Given the description of an element on the screen output the (x, y) to click on. 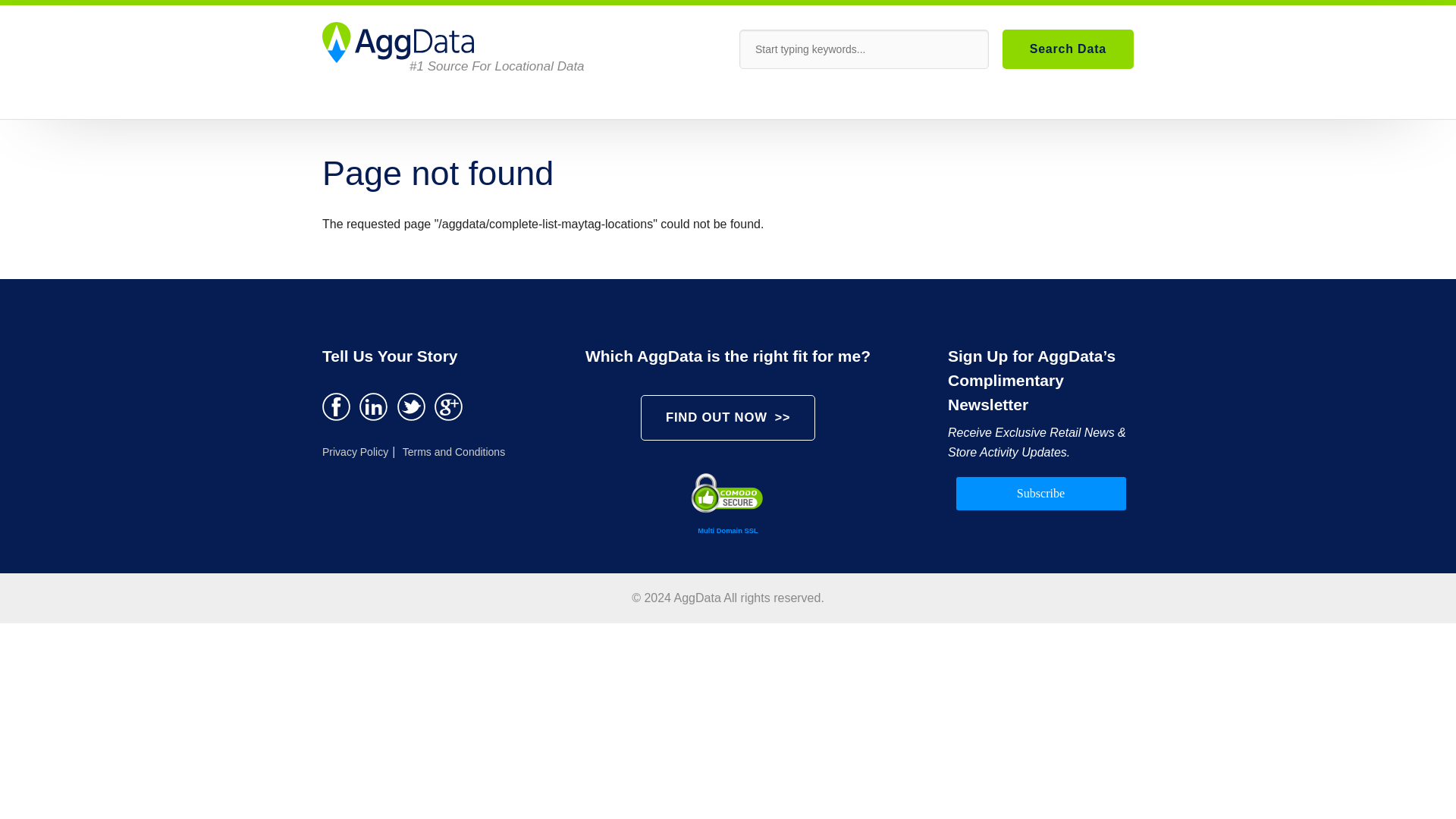
FIND OUT NOW (727, 417)
Google Plus (448, 406)
AggData (397, 43)
Facebook (335, 406)
Linkedin (373, 406)
Privacy Policy (356, 451)
Start typing keywords... (863, 48)
Subscribe (1040, 493)
Multi Domain SSL (728, 509)
Subscribe (1040, 493)
Google conversion frame (75, 632)
AggData Home (397, 43)
Twitter (411, 406)
Terms and Conditions (451, 451)
